Given the description of an element on the screen output the (x, y) to click on. 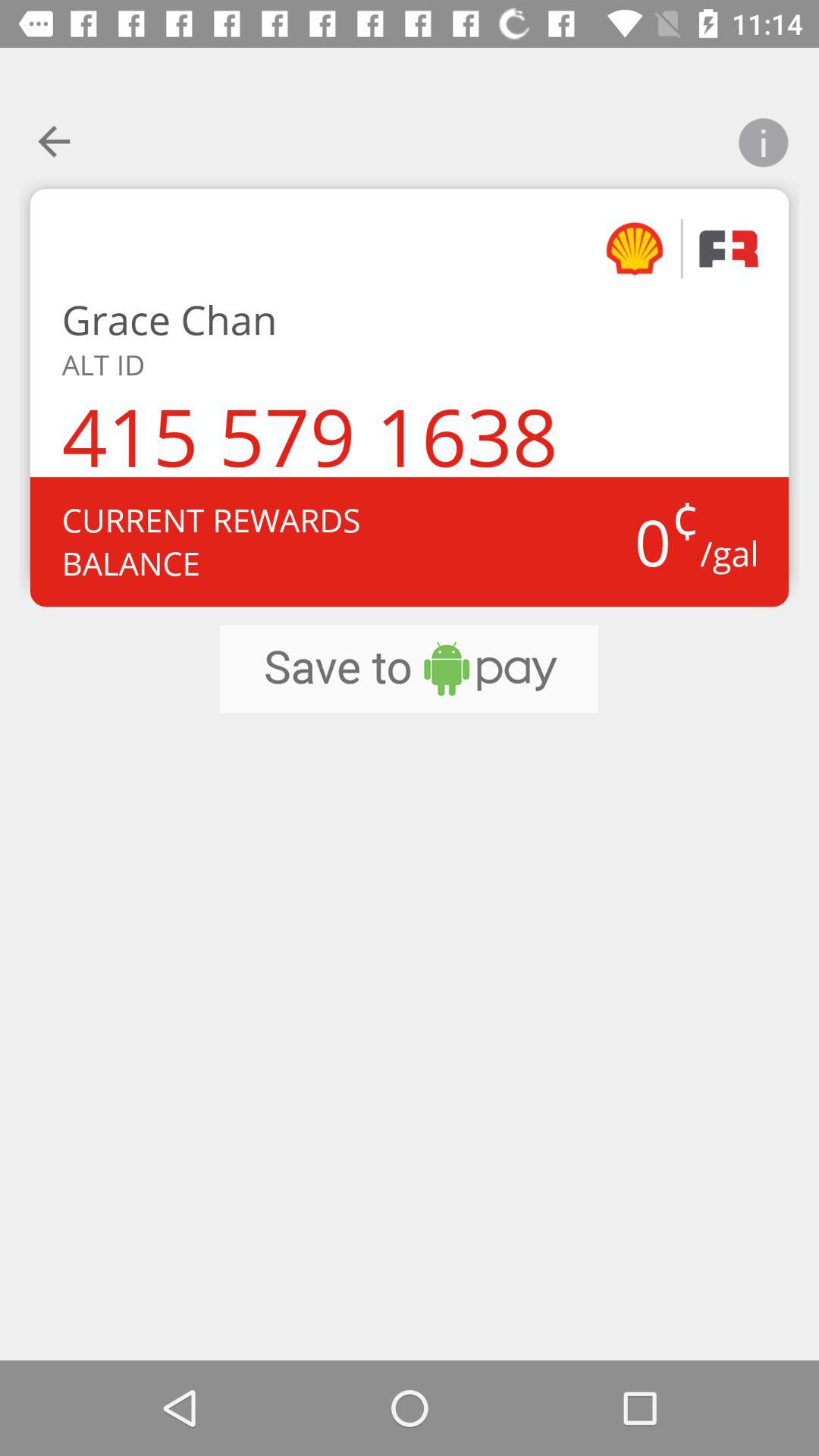
select item at the center (409, 668)
